Given the description of an element on the screen output the (x, y) to click on. 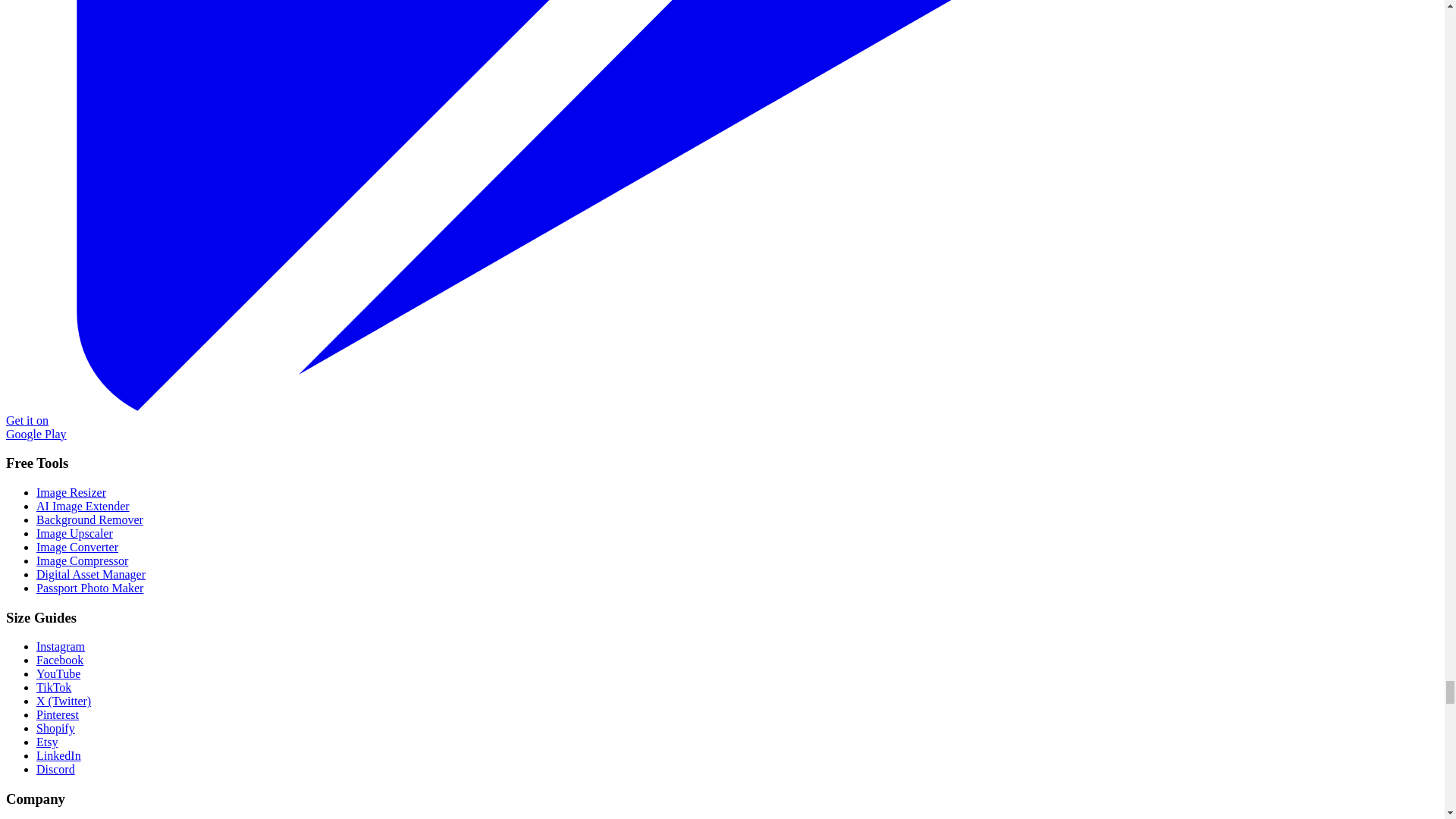
Passport Photo Maker (89, 587)
Image Compressor (82, 560)
Background Remover (89, 519)
Etsy (47, 741)
Image Resizer (71, 492)
TikTok (53, 686)
Pinterest (57, 714)
Discord (55, 768)
LinkedIn (58, 755)
Facebook (59, 659)
Shopify (55, 727)
Instagram (60, 645)
Image Upscaler (74, 533)
YouTube (58, 673)
Digital Asset Manager (90, 574)
